Given the description of an element on the screen output the (x, y) to click on. 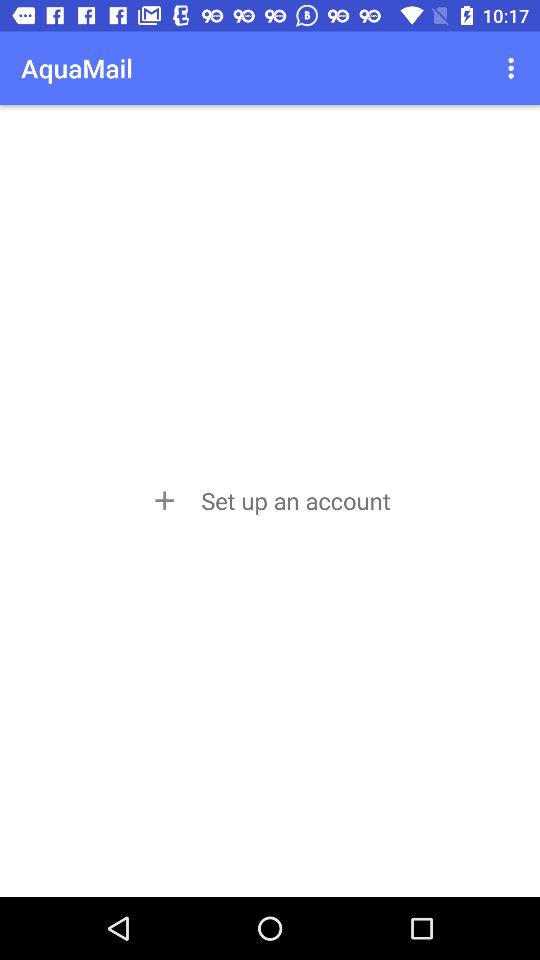
turn on set up an item (269, 500)
